Given the description of an element on the screen output the (x, y) to click on. 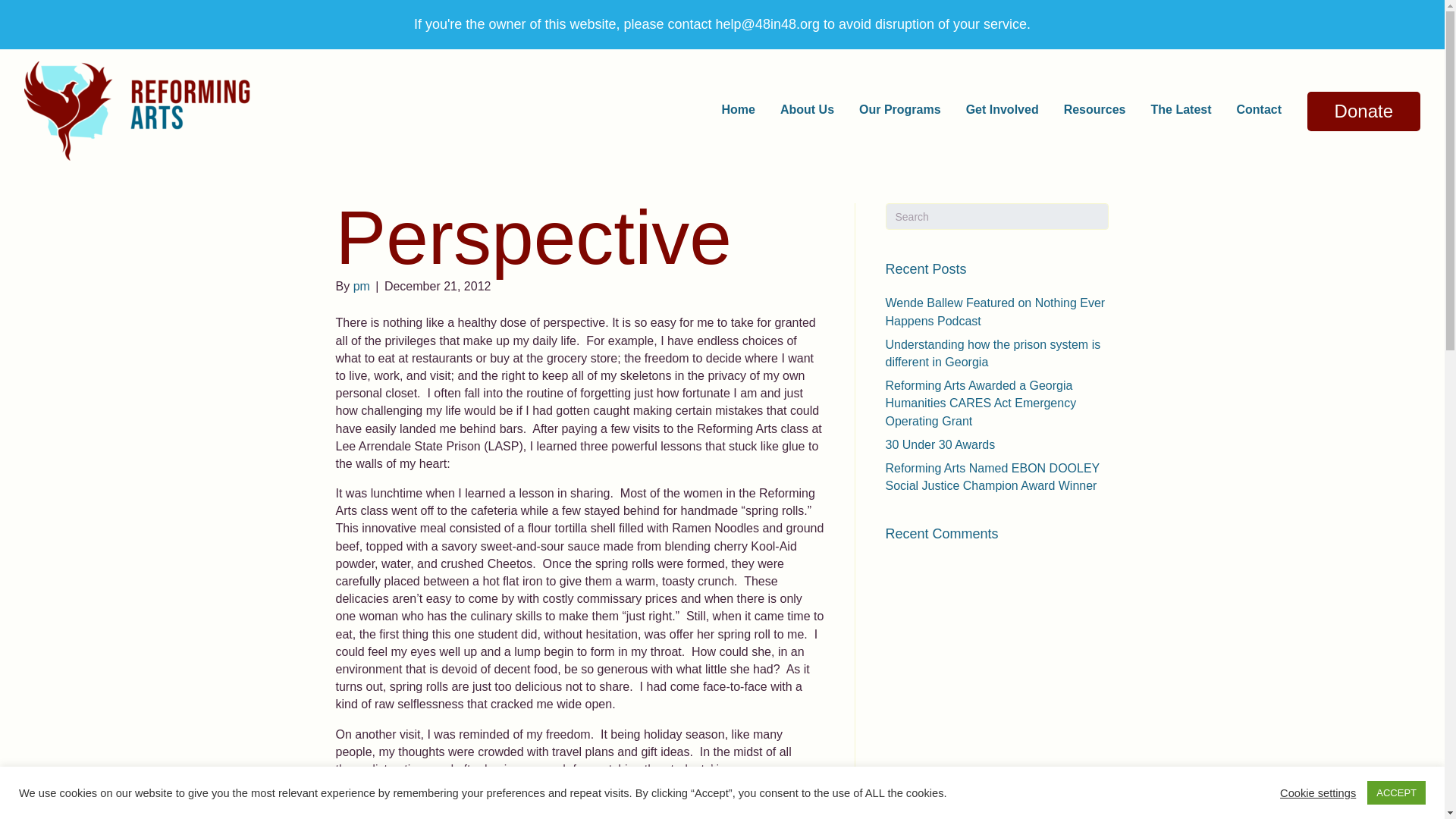
Resources (1094, 109)
30 Under 30 Awards (940, 444)
The Latest (1180, 109)
Get Involved (1002, 109)
Cookie settings (1317, 792)
Our Programs (900, 109)
Understanding how the prison system is different in Georgia (992, 353)
Logo - New Full (137, 110)
Home (738, 109)
Type and press Enter to search. (997, 216)
pm (361, 286)
Donate (1364, 111)
Contact (1259, 109)
